Given the description of an element on the screen output the (x, y) to click on. 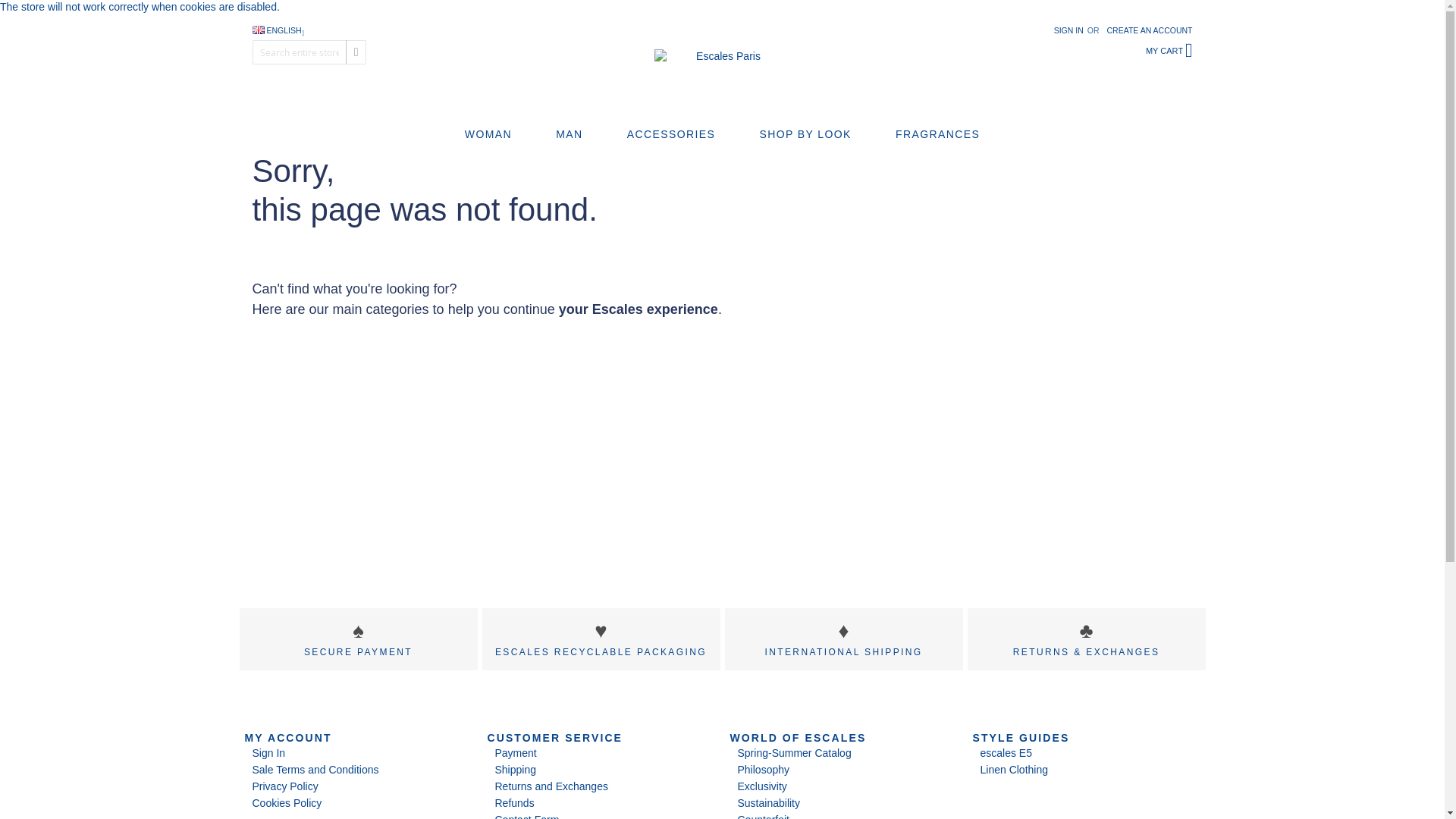
Escales Paris (721, 66)
Sign In (268, 752)
Escales Paris (721, 66)
Sale Terms and Conditions (314, 768)
MY CART (1169, 51)
WOMAN (487, 133)
CREATE AN ACCOUNT (1149, 30)
SIGN IN (1068, 30)
MAN (569, 133)
Privacy Policy (284, 786)
